Given the description of an element on the screen output the (x, y) to click on. 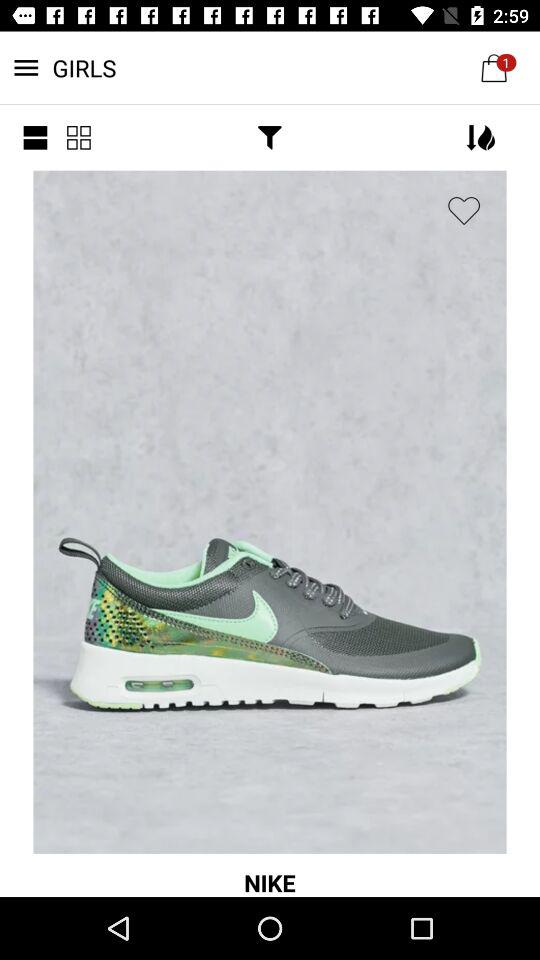
click icon below girls item (269, 137)
